Given the description of an element on the screen output the (x, y) to click on. 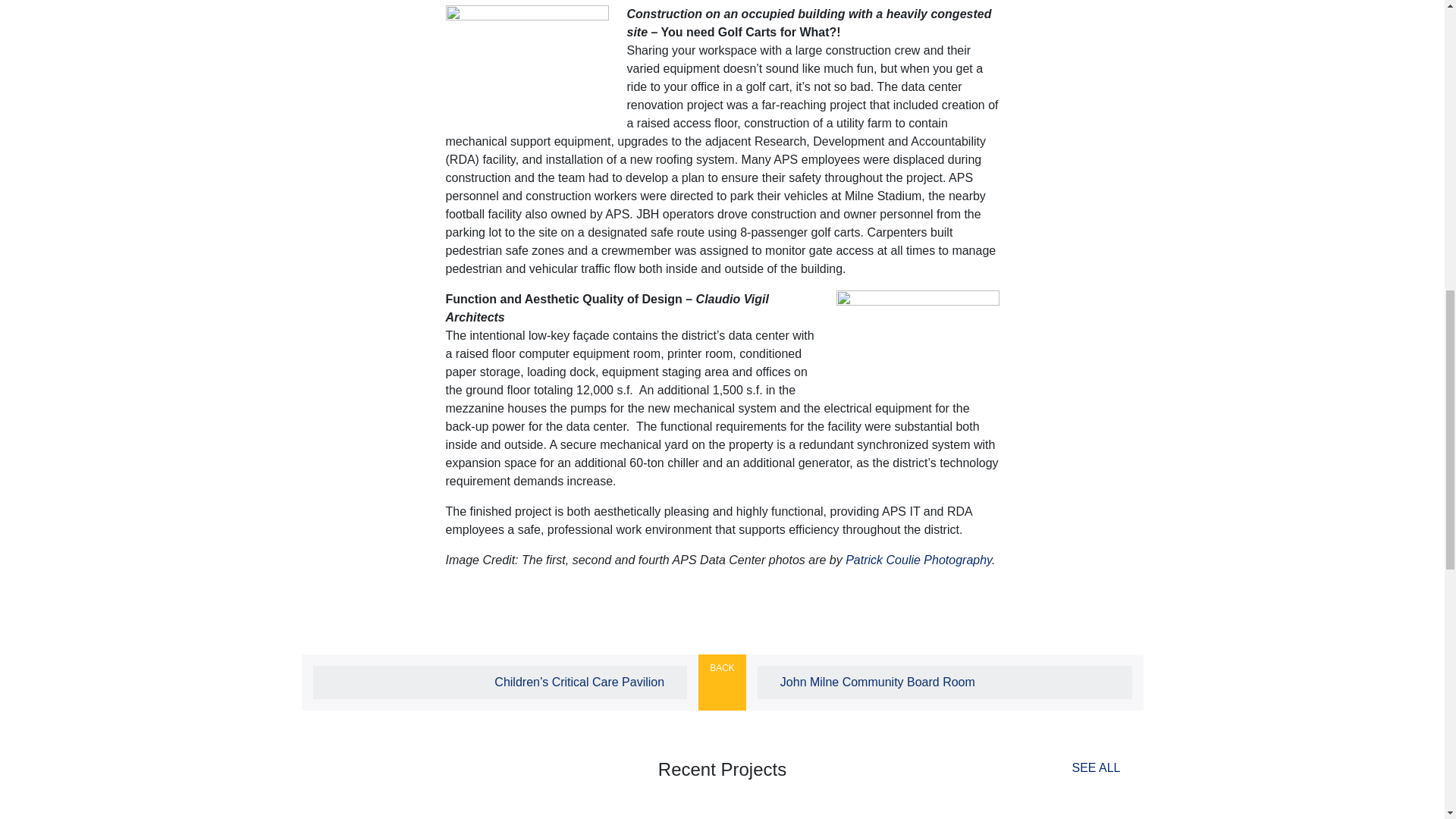
John Milne Community Board Room (944, 682)
John Milne Community Board Room (944, 682)
SEE ALL (1082, 768)
Patrick Coulie Photography (918, 559)
